Given the description of an element on the screen output the (x, y) to click on. 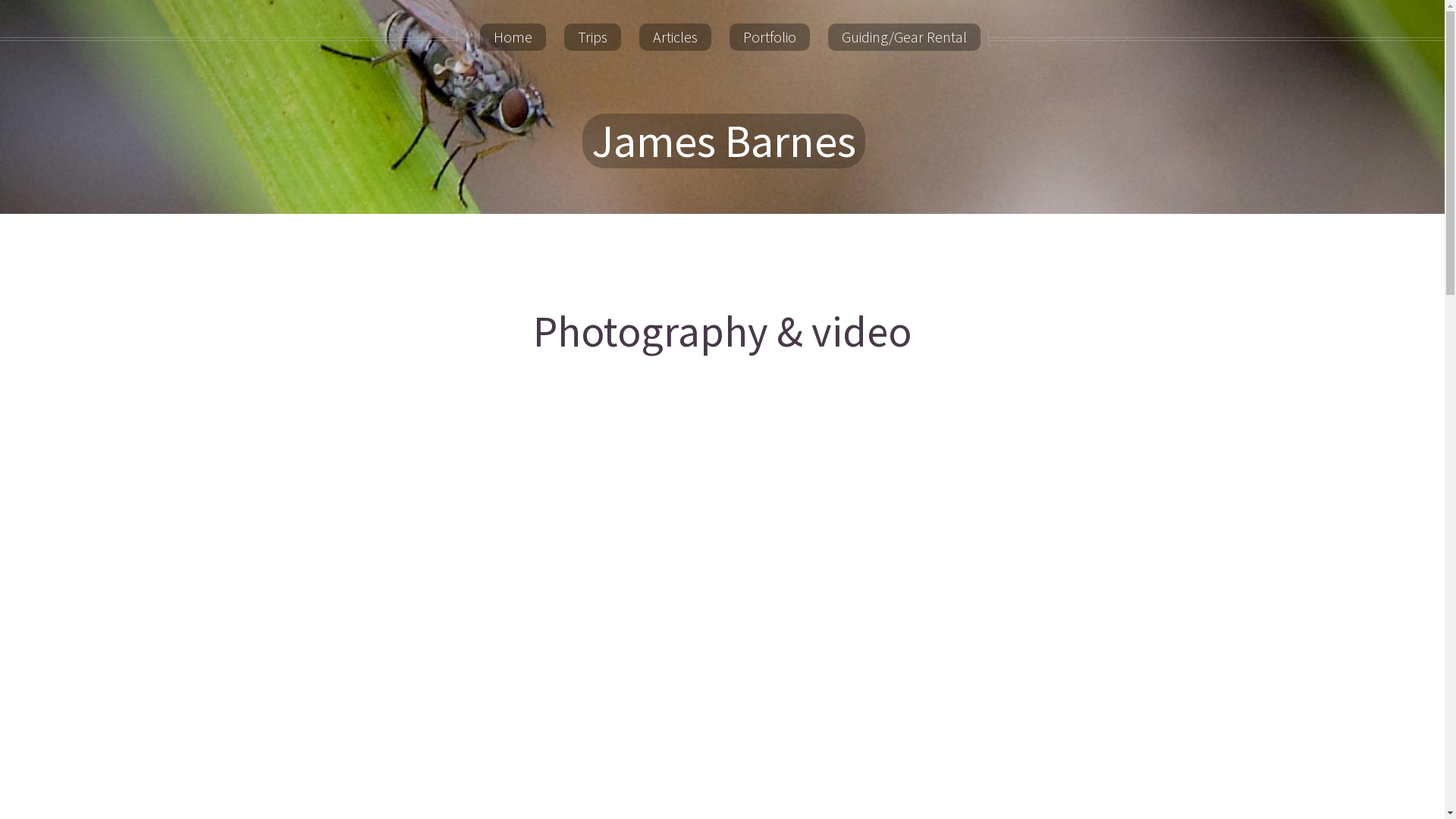
James Barnes Element type: text (723, 140)
